Given the description of an element on the screen output the (x, y) to click on. 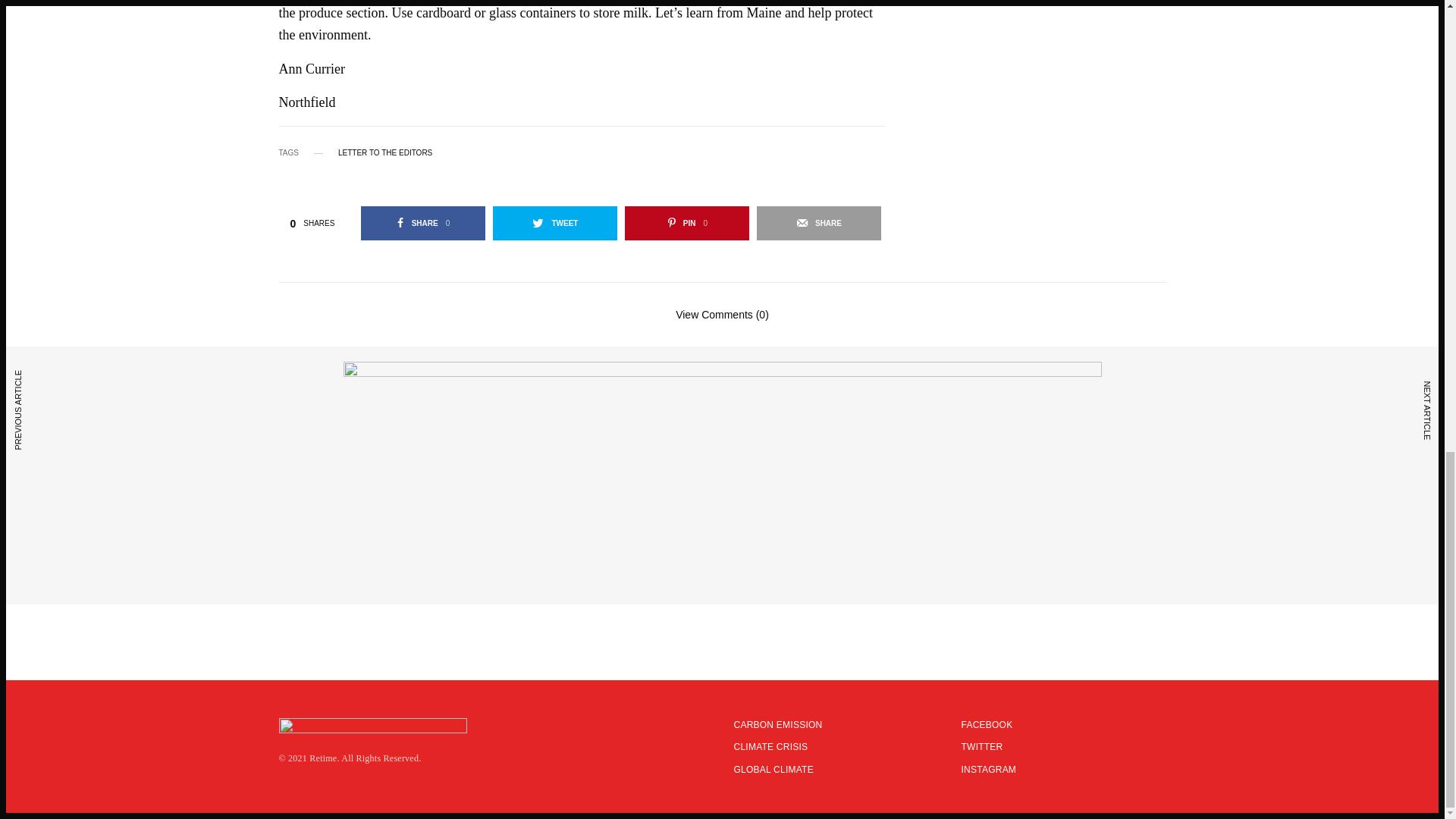
SHARE (686, 223)
TWEET (818, 223)
LETTER TO THE EDITORS (422, 223)
